Given the description of an element on the screen output the (x, y) to click on. 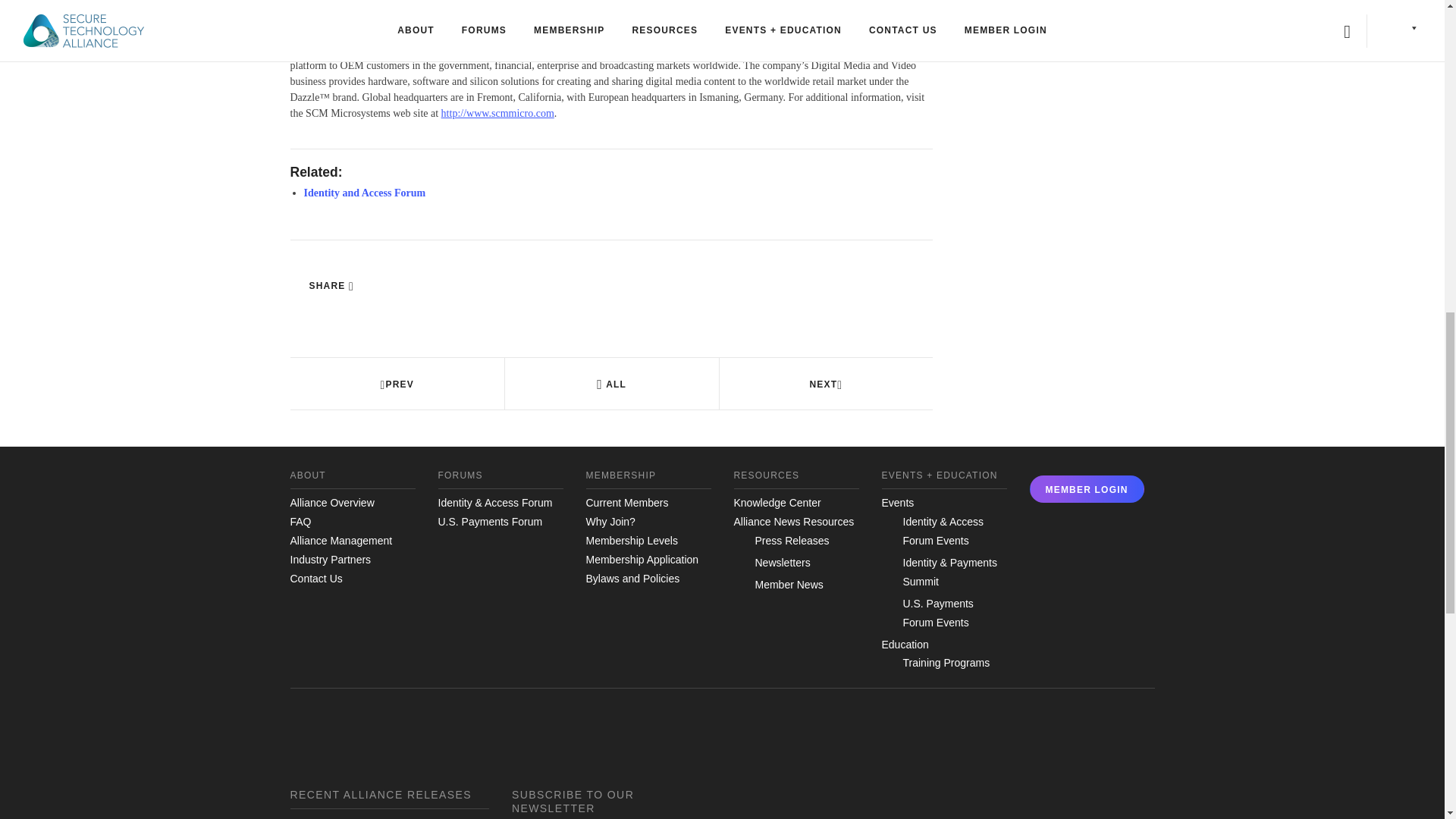
Identity and Access Forum (363, 193)
